Given the description of an element on the screen output the (x, y) to click on. 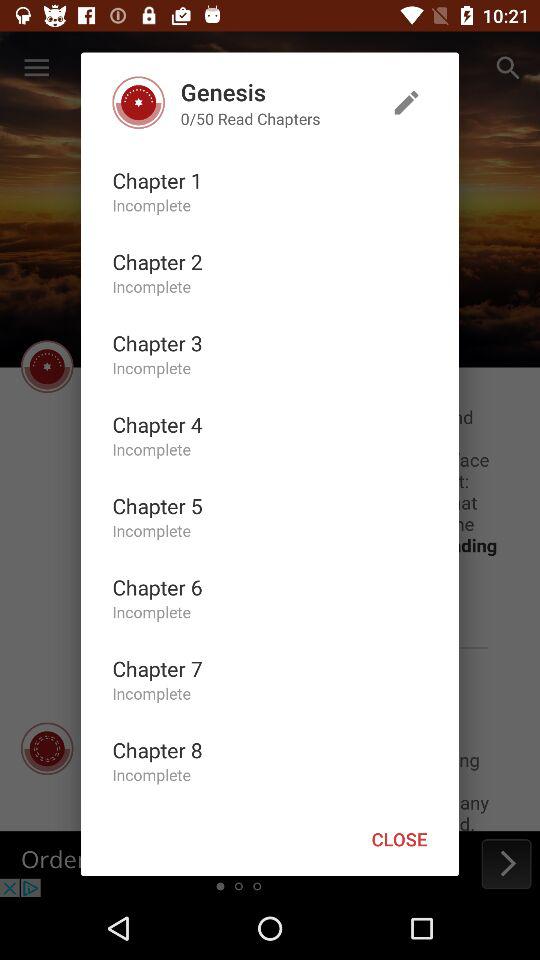
edit the settings edit the selection settings (406, 102)
